Given the description of an element on the screen output the (x, y) to click on. 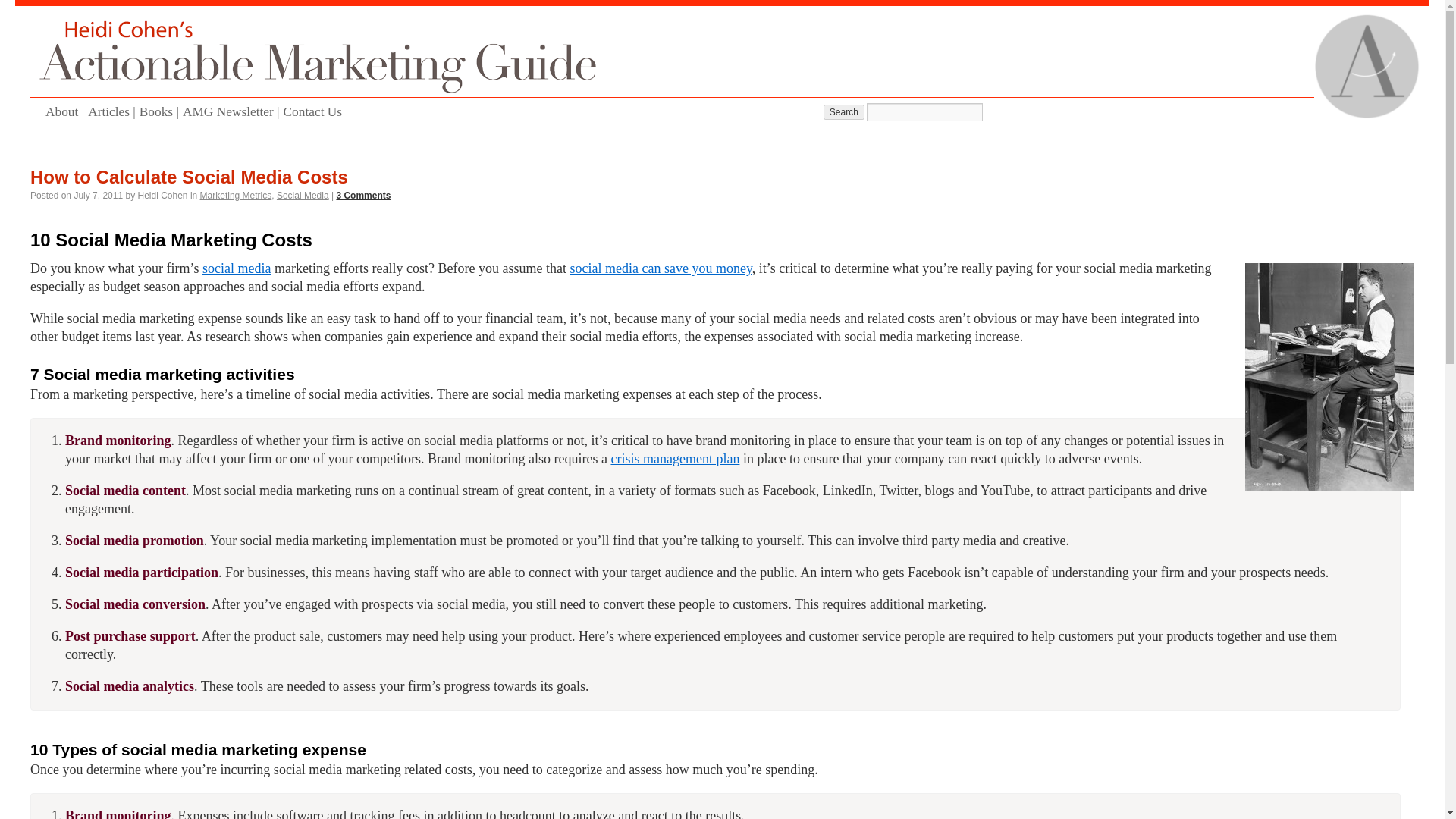
Marketing Metrics (236, 195)
3 Comments (363, 195)
Articles (113, 111)
Search (844, 111)
Social Media (302, 195)
social media (236, 268)
crisis management plan (674, 458)
Subscribe To Our Newsletter (233, 111)
AMG Newsletter (233, 111)
Books (161, 111)
Contact Us (314, 111)
About (66, 111)
social media can save you money (661, 268)
Search (844, 111)
